Given the description of an element on the screen output the (x, y) to click on. 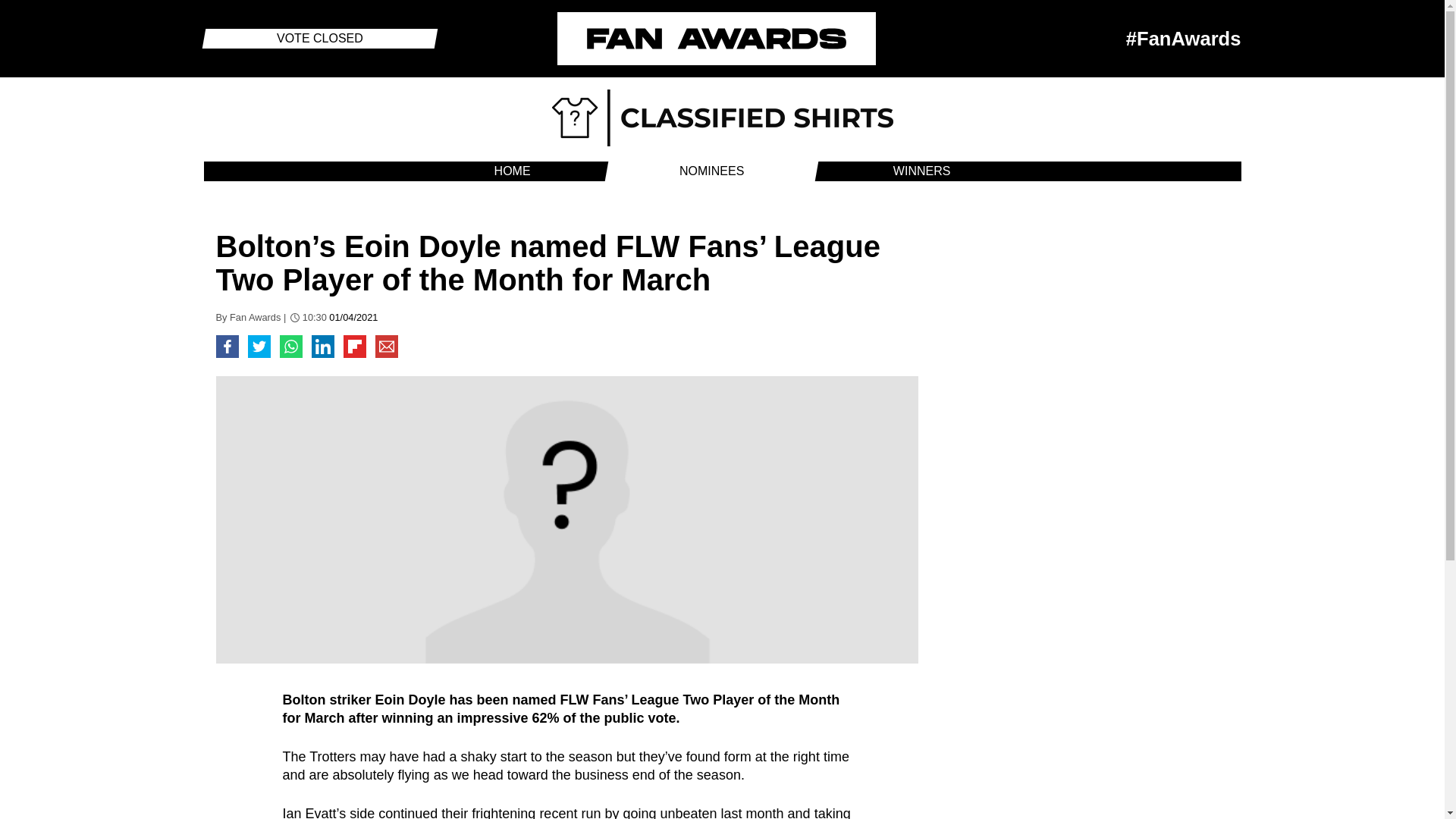
HOME (513, 170)
WINNERS (922, 170)
share on WhatsApp (290, 345)
share on Flipboard (353, 345)
share on Email (385, 345)
share on Twitter (258, 345)
share on LinkedIn (322, 345)
share on Facebook (226, 345)
VOTE CLOSED (319, 38)
NOMINEES (711, 170)
